Given the description of an element on the screen output the (x, y) to click on. 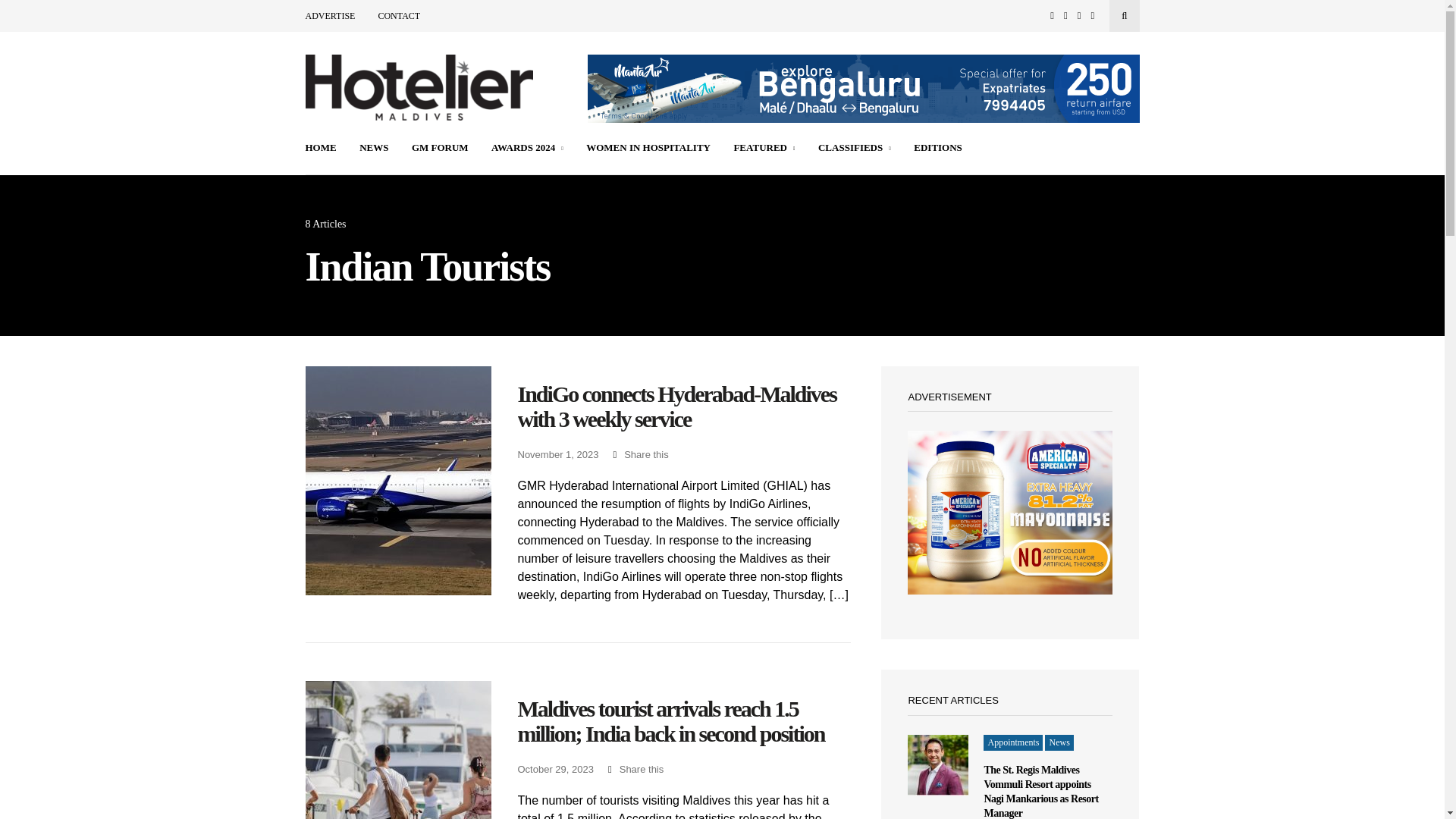
CONTACT (398, 15)
GM FORUM (440, 148)
AWARDS 2024 (527, 148)
CLASSIFIEDS (854, 148)
EDITIONS (938, 148)
HOME (320, 148)
IndiGo connects Hyderabad-Maldives with 3 weekly service (683, 406)
WOMEN IN HOSPITALITY (648, 148)
FEATURED (763, 148)
NEWS (373, 148)
ADVERTISE (329, 15)
